Given the description of an element on the screen output the (x, y) to click on. 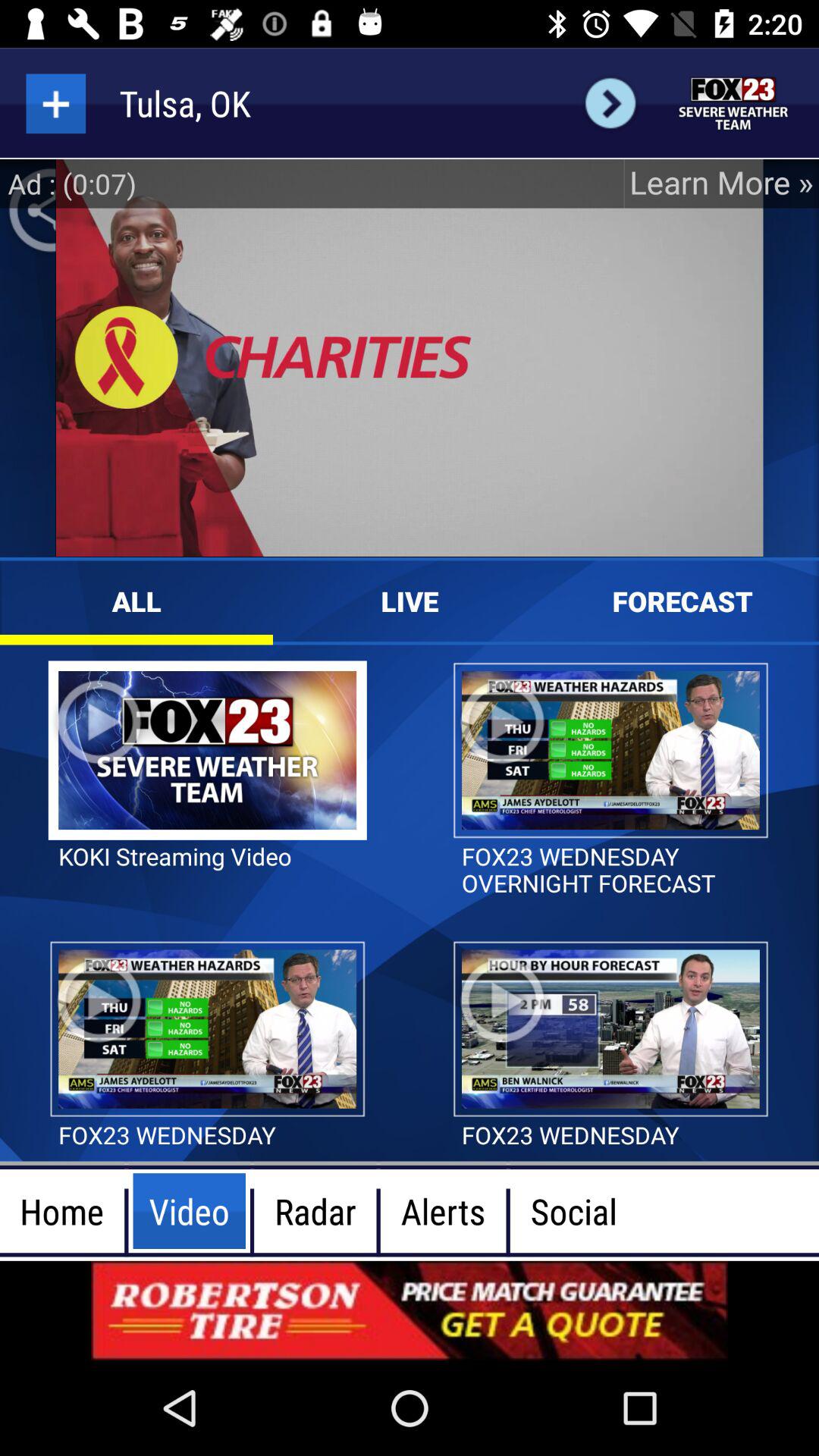
view fox weather news (734, 103)
